Given the description of an element on the screen output the (x, y) to click on. 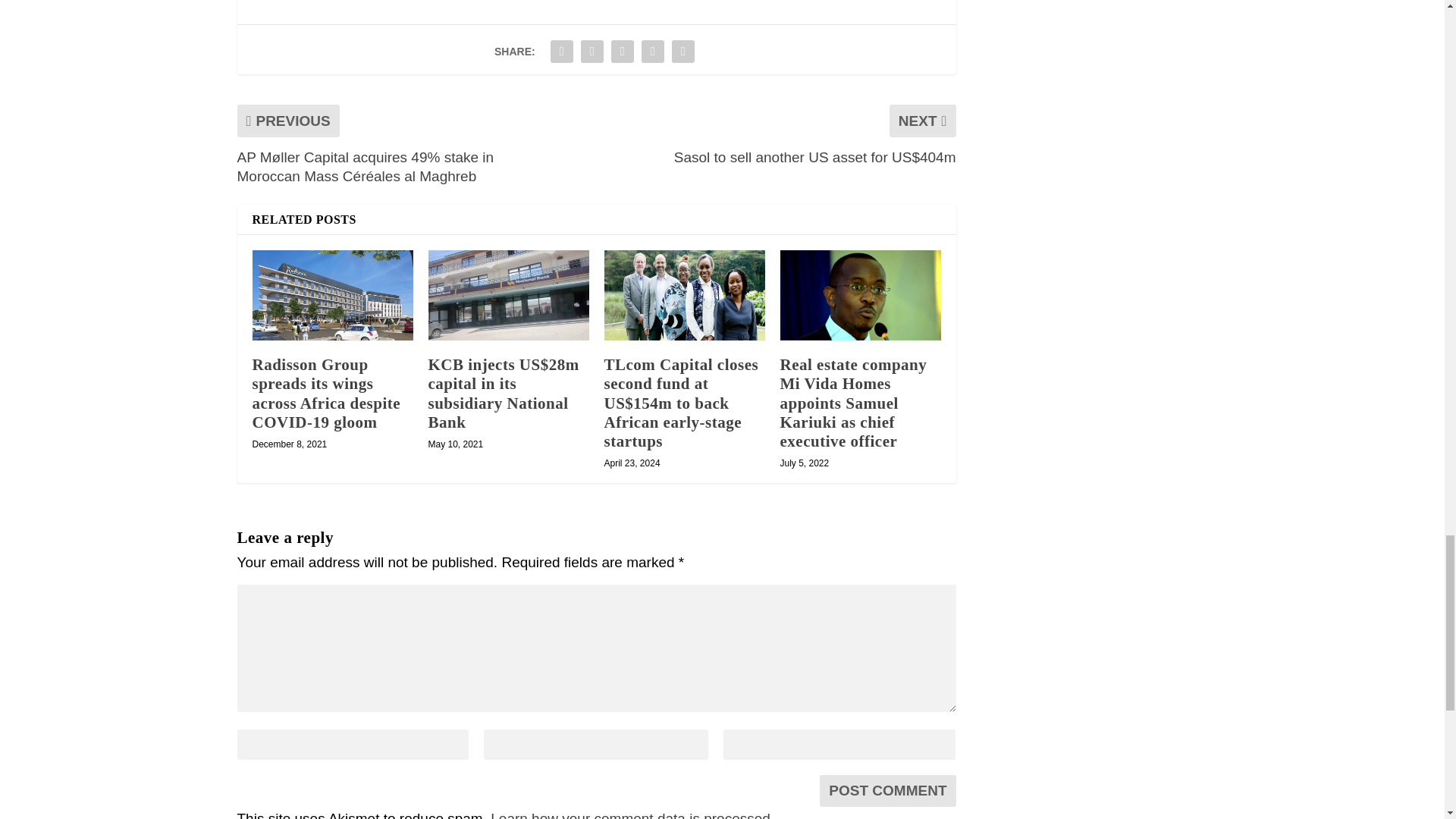
Post Comment (887, 790)
